Given the description of an element on the screen output the (x, y) to click on. 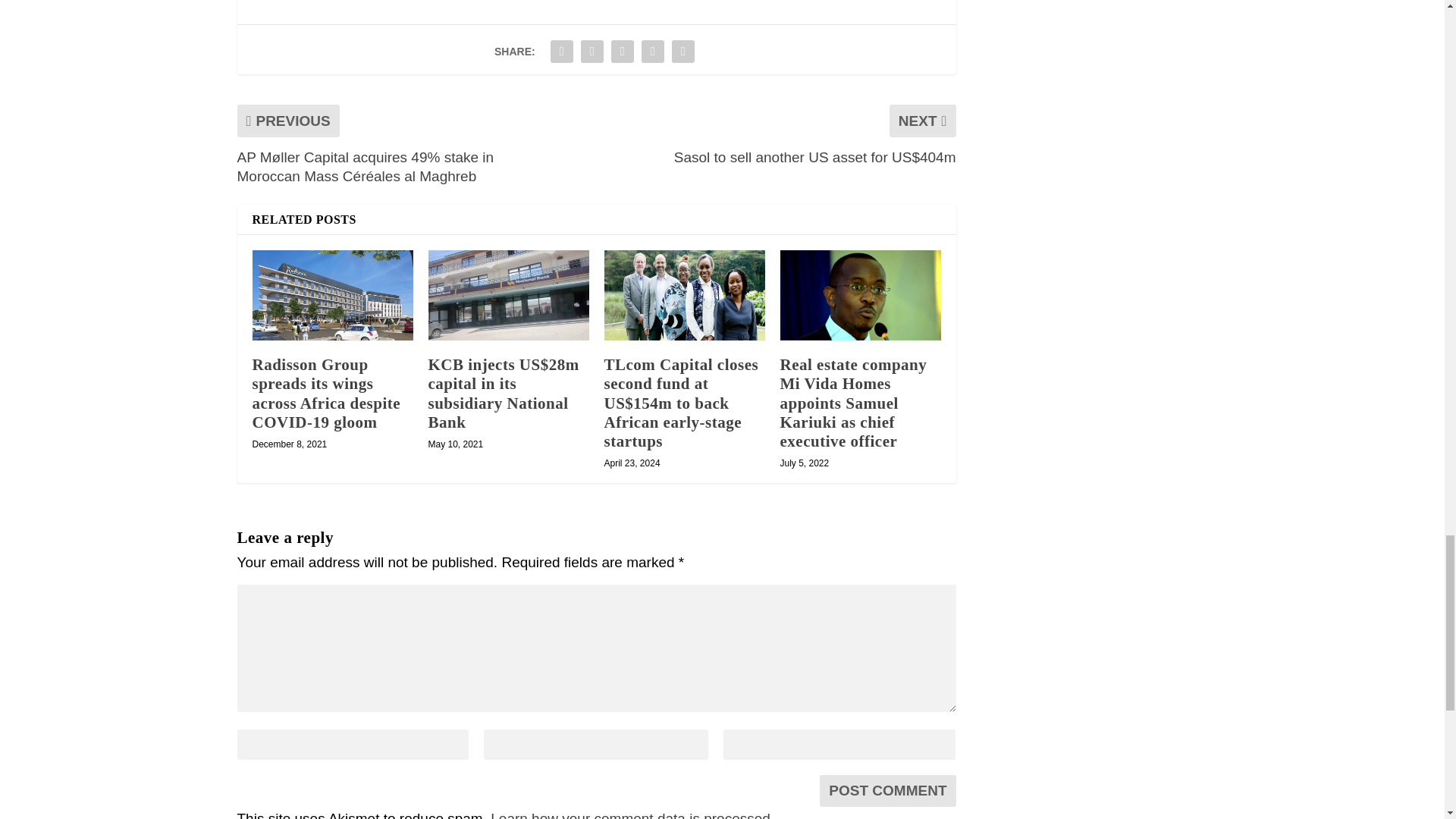
Post Comment (887, 790)
